Given the description of an element on the screen output the (x, y) to click on. 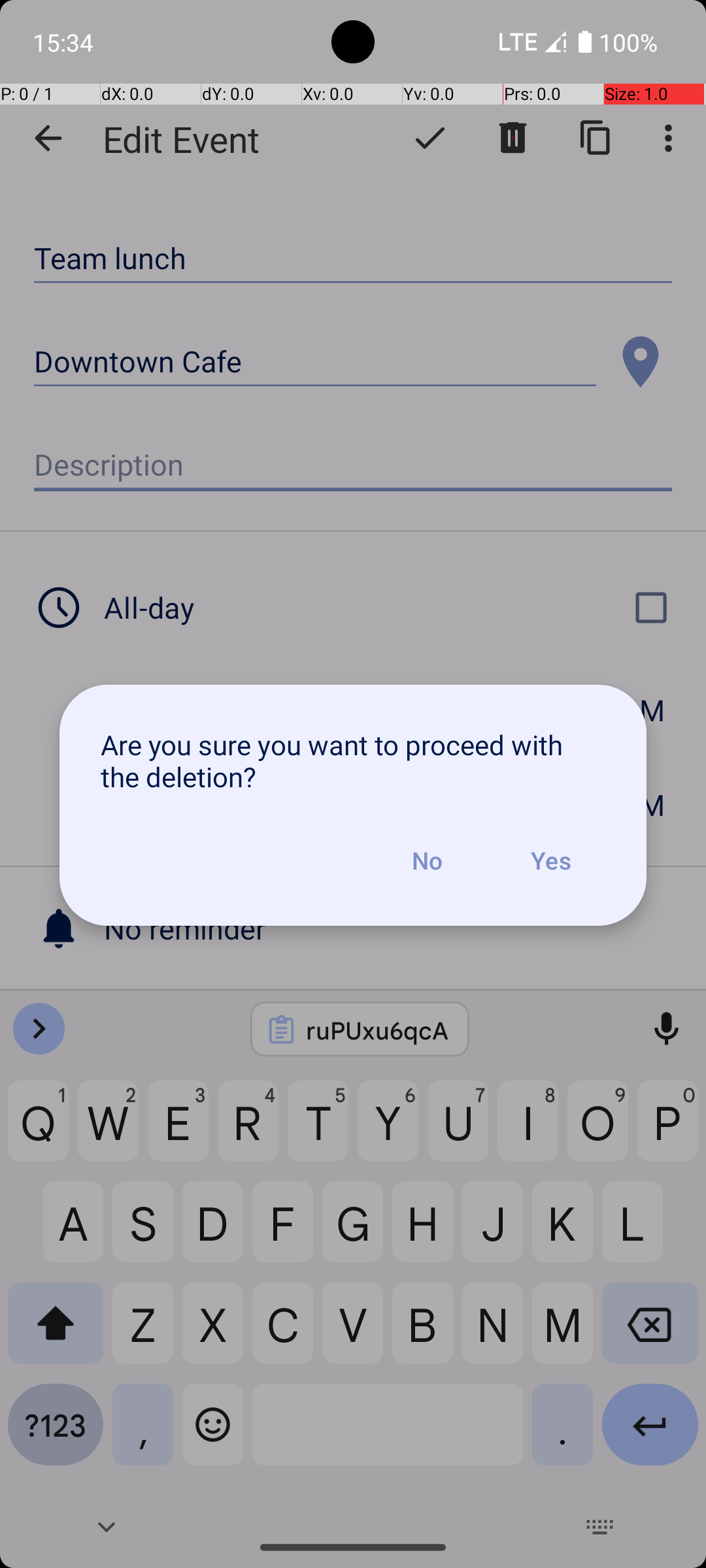
Are you sure you want to proceed with the deletion? Element type: android.widget.TextView (352, 760)
No Element type: android.widget.Button (426, 860)
Yes Element type: android.widget.Button (550, 860)
